Given the description of an element on the screen output the (x, y) to click on. 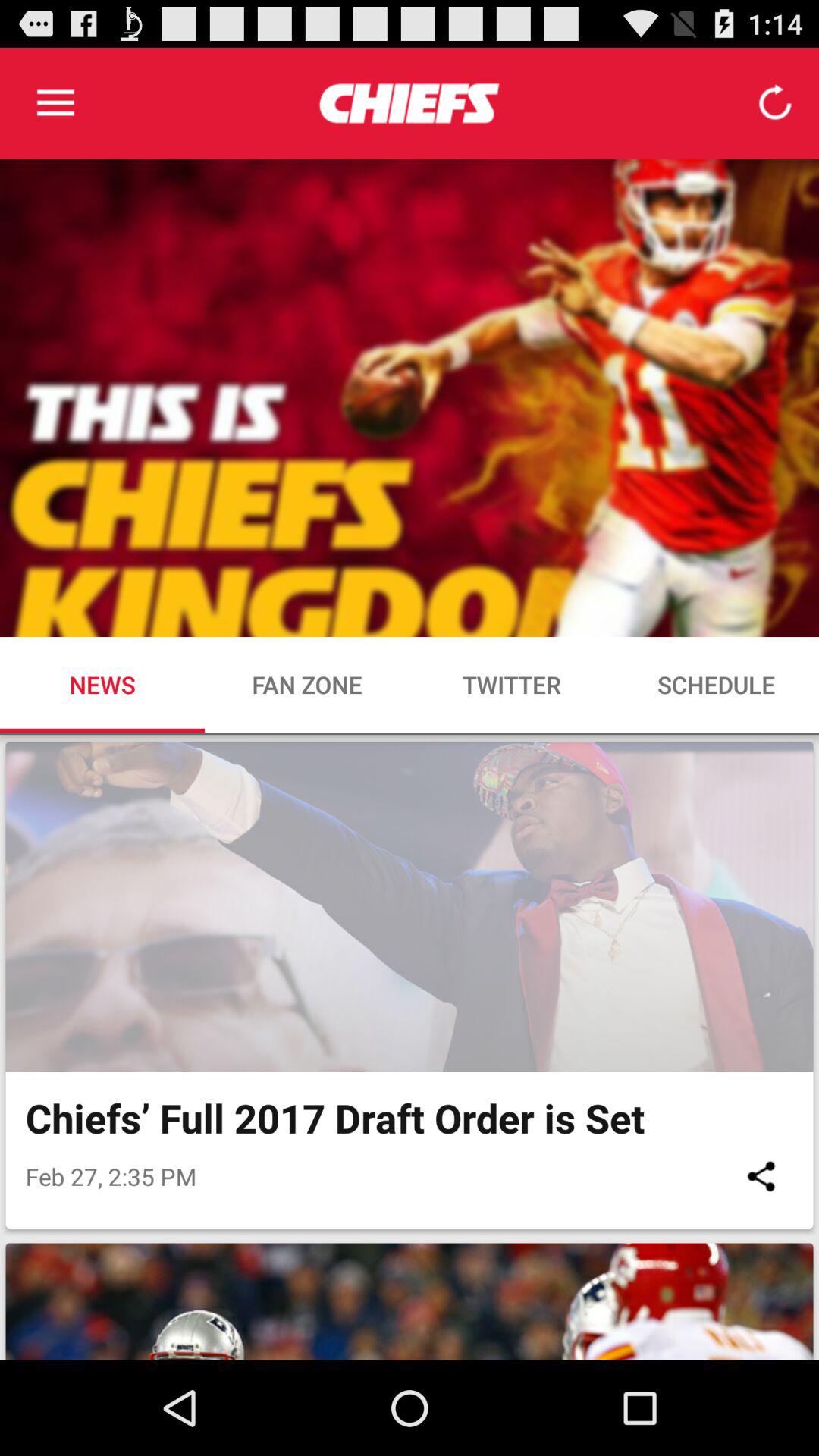
turn off icon next to feb 27 2 item (761, 1176)
